Given the description of an element on the screen output the (x, y) to click on. 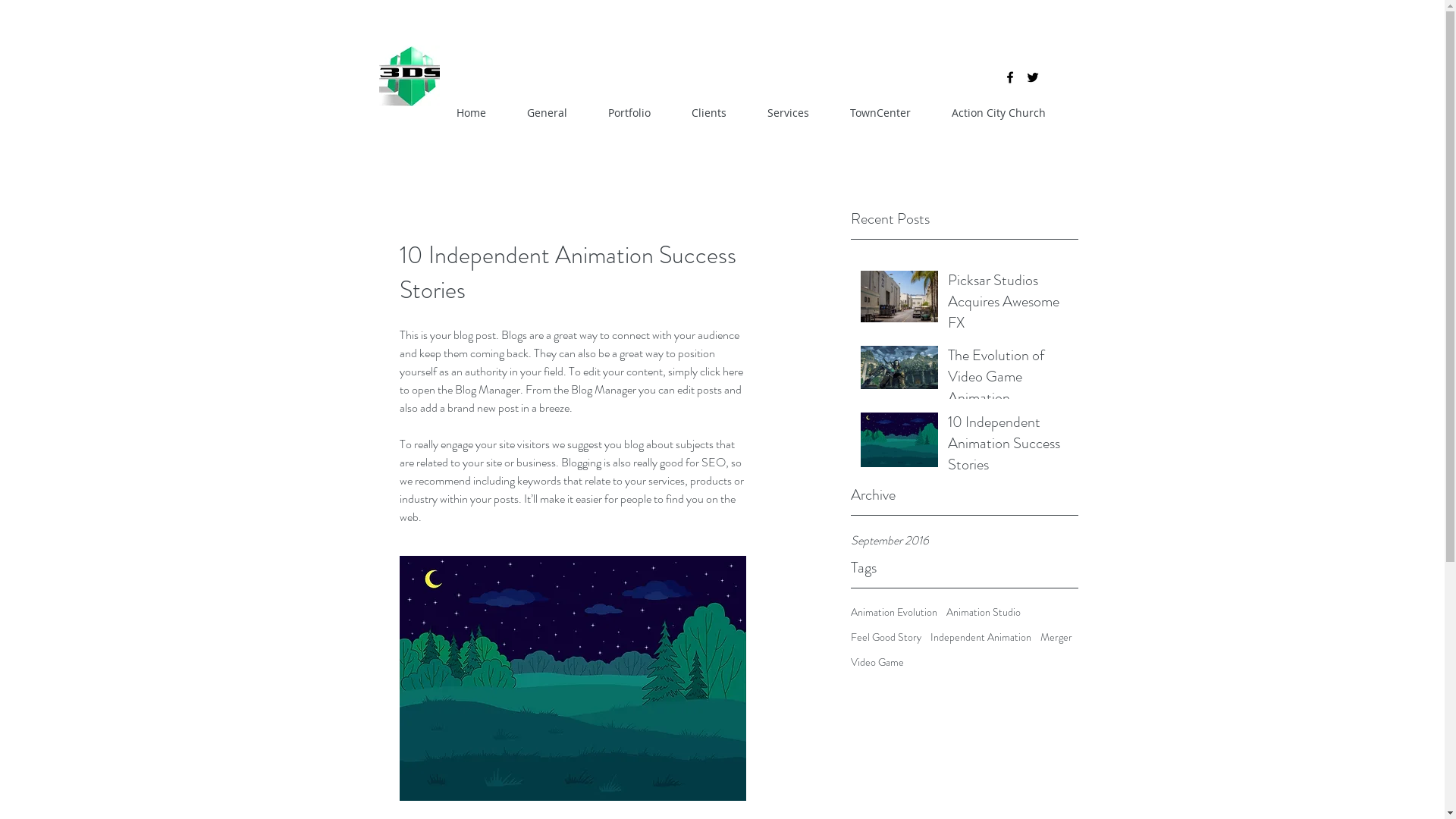
The Evolution of Video Game Animation Element type: text (1008, 379)
10 Independent Animation Success Stories Element type: text (1008, 446)
Merger Element type: text (1056, 637)
Feel Good Story Element type: text (885, 637)
Services Element type: text (787, 112)
Animation Studio Element type: text (983, 612)
General Element type: text (546, 112)
Independent Animation Element type: text (979, 637)
Action City Church Element type: text (998, 112)
Portfolio Element type: text (628, 112)
Home Element type: text (470, 112)
TownCenter Element type: text (880, 112)
Clients Element type: text (708, 112)
Video Game Element type: text (876, 662)
Picksar Studios Acquires Awesome FX Element type: text (1008, 304)
September 2016 Element type: text (964, 540)
Animation Evolution Element type: text (893, 612)
